Given the description of an element on the screen output the (x, y) to click on. 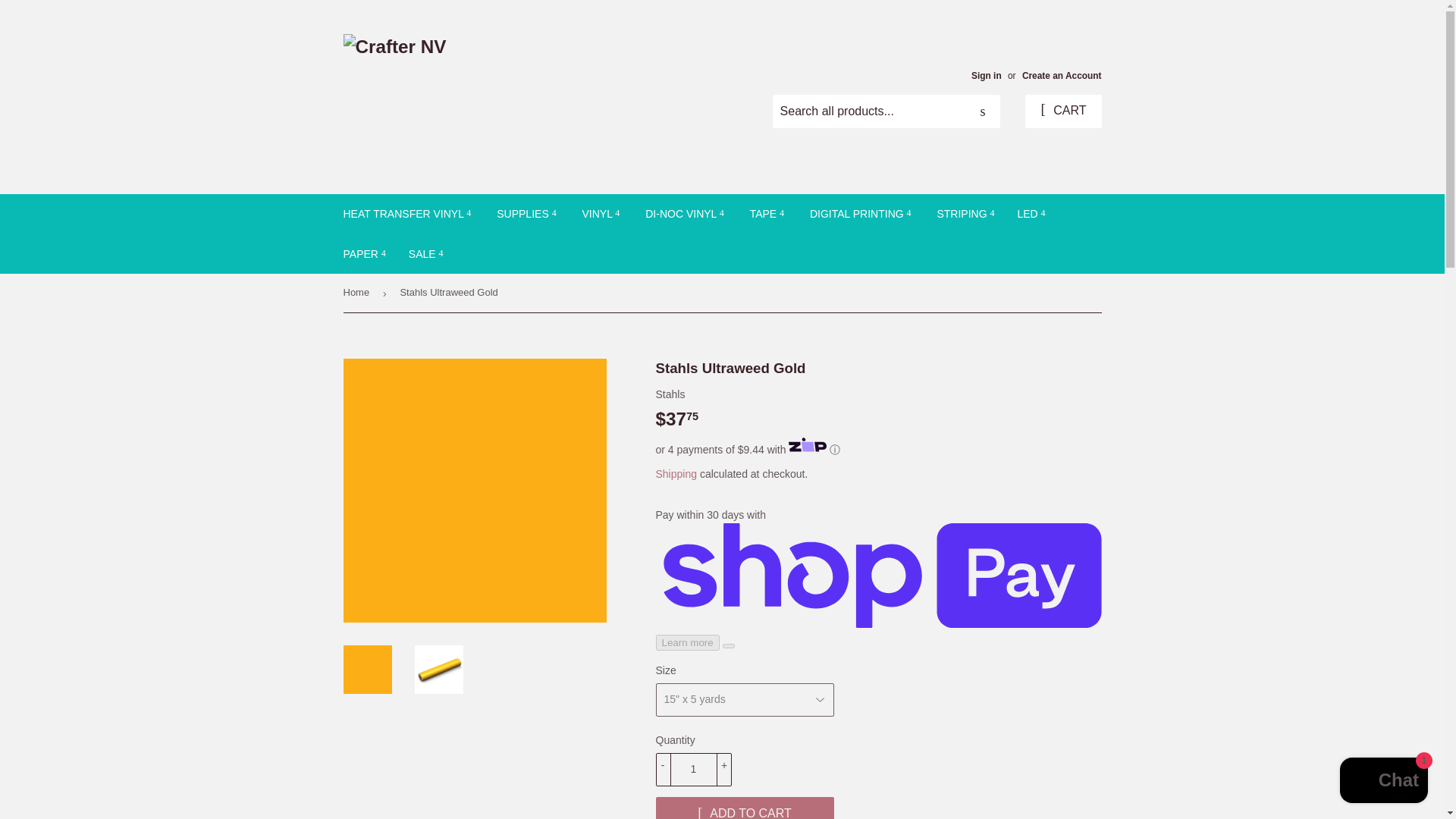
Sign in (986, 75)
Shopify online store chat (1383, 781)
Create an Account (1062, 75)
Search (983, 111)
CART (1062, 111)
1 (692, 769)
